Given the description of an element on the screen output the (x, y) to click on. 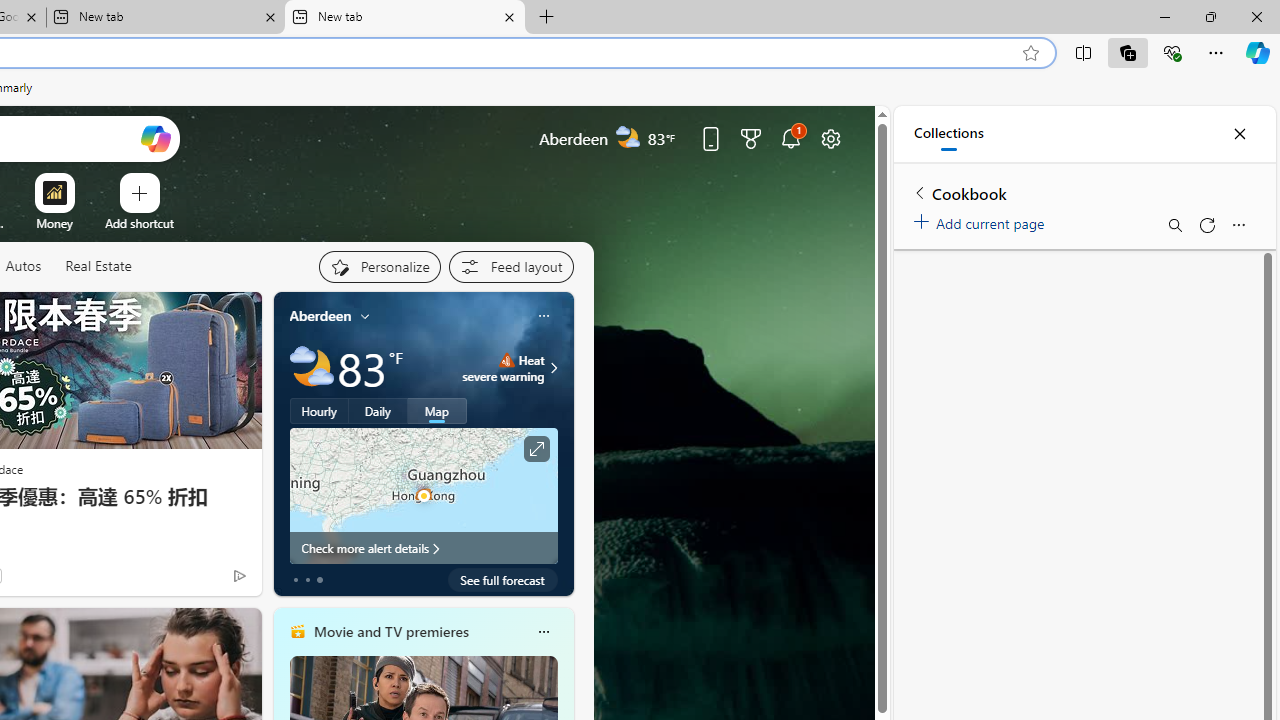
Add a site (139, 223)
Class: icon-img (543, 632)
Hourly (319, 411)
Movie and TV premieres (390, 631)
Microsoft rewards (750, 138)
Personalize your feed" (379, 266)
Class: weather-arrow-glyph (554, 367)
Feed settings (510, 266)
Back to list of collections (920, 192)
